Given the description of an element on the screen output the (x, y) to click on. 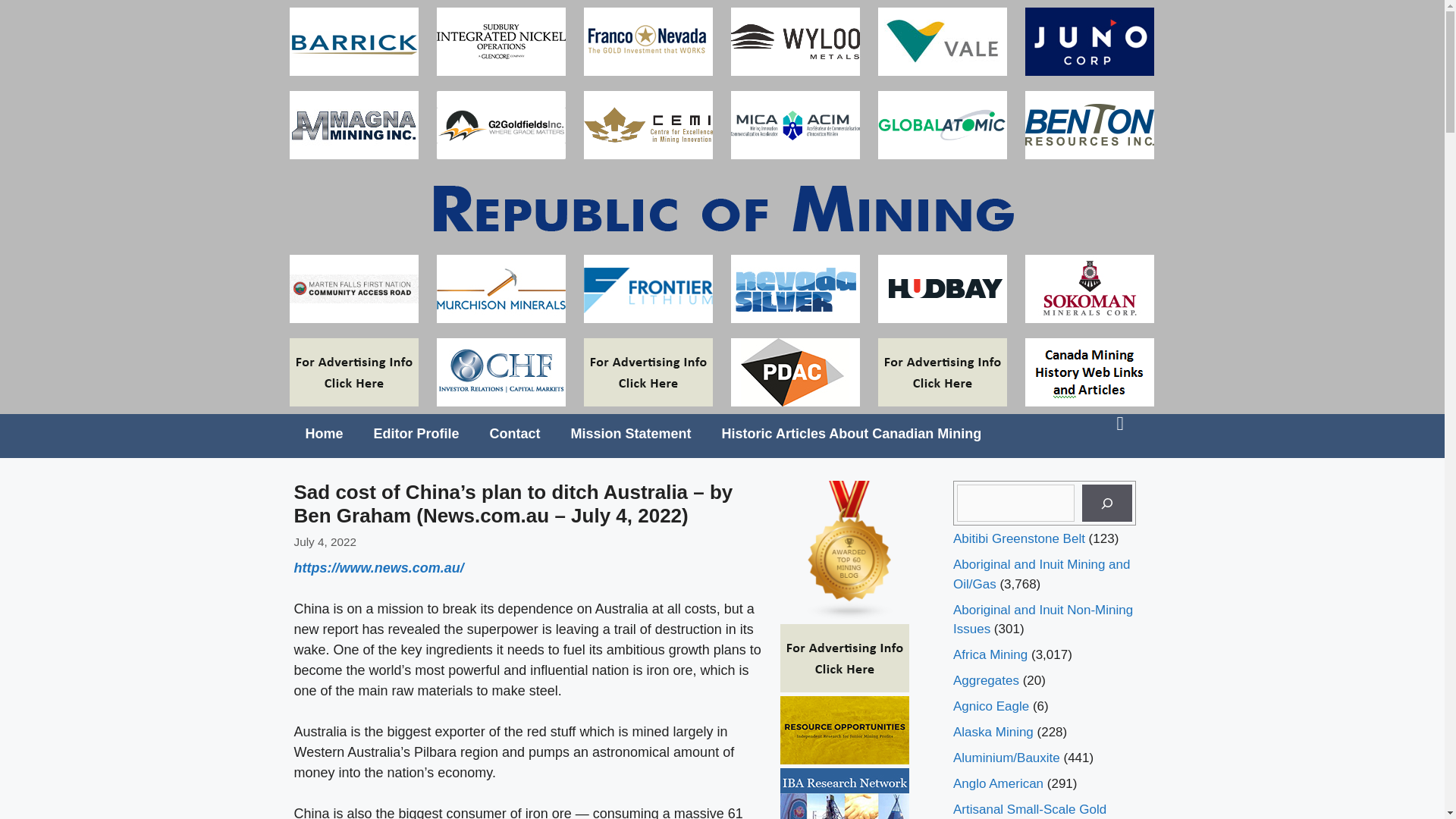
Contact (515, 433)
Editor Profile (416, 433)
Historic Articles About Canadian Mining (851, 433)
Mission Statement (631, 433)
Home (323, 433)
